Given the description of an element on the screen output the (x, y) to click on. 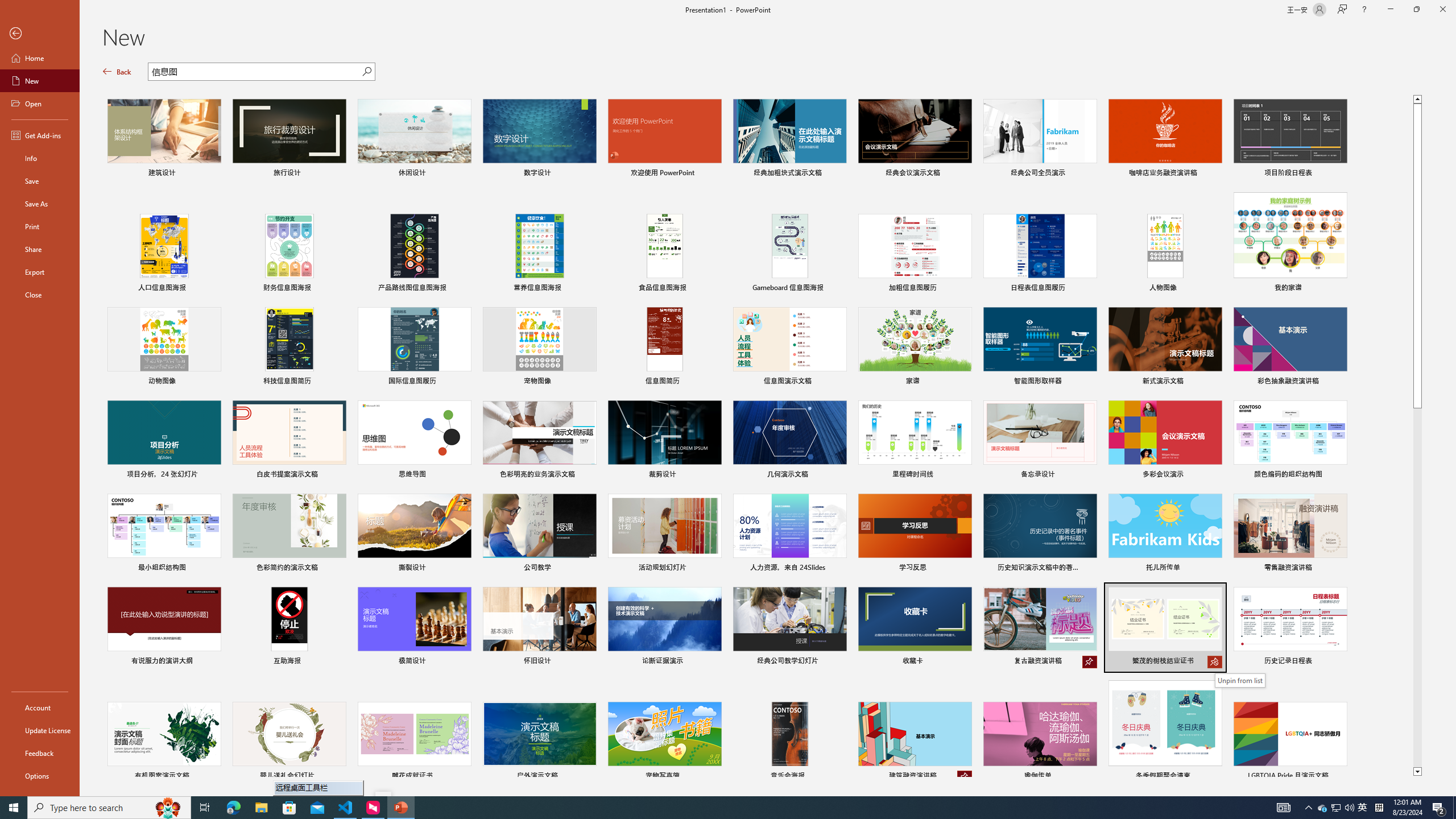
Options (40, 775)
Info (40, 157)
